Given the description of an element on the screen output the (x, y) to click on. 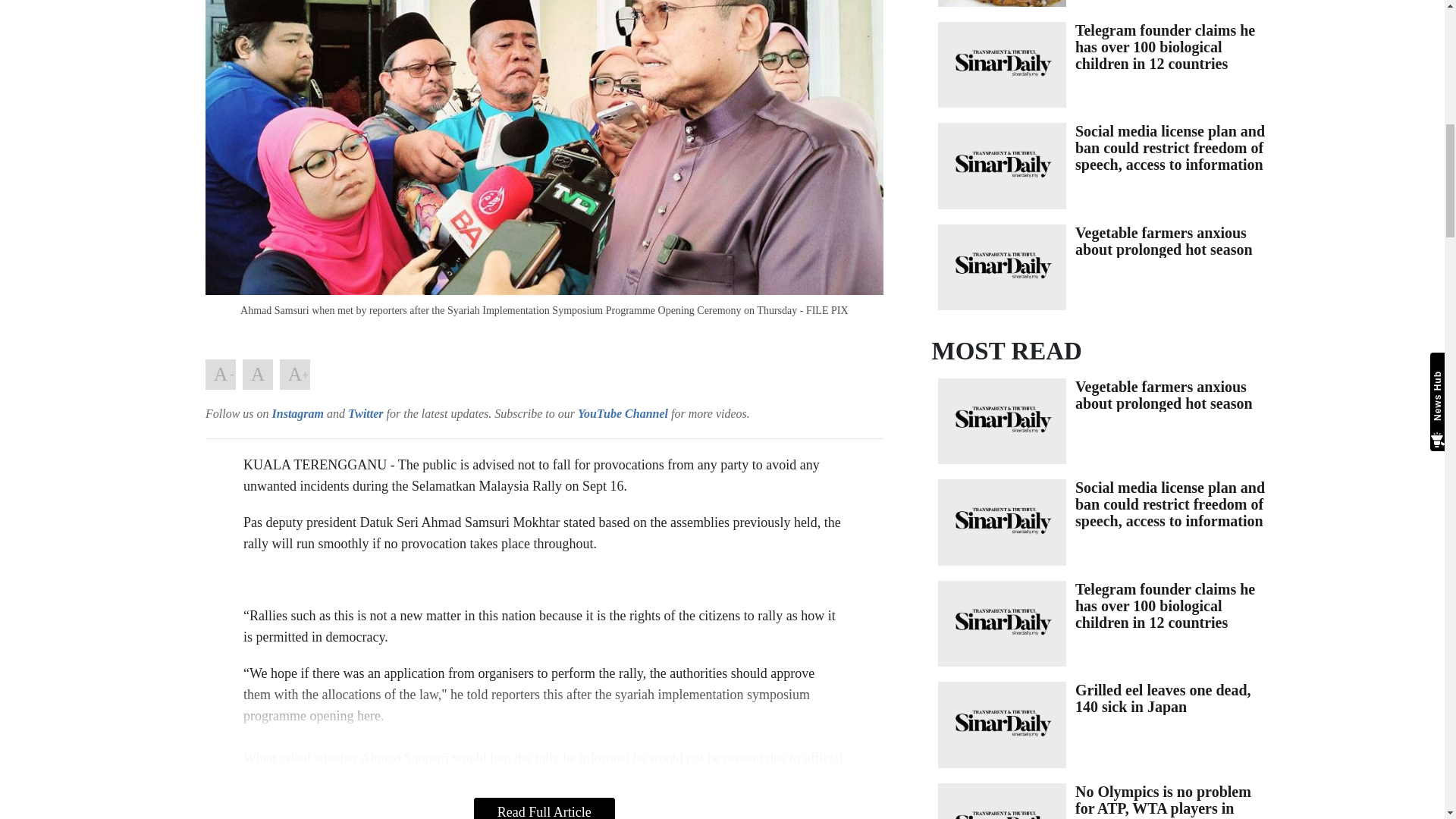
Teks Kecil (220, 374)
Teks Asal (258, 374)
Teks Besar (294, 374)
